Given the description of an element on the screen output the (x, y) to click on. 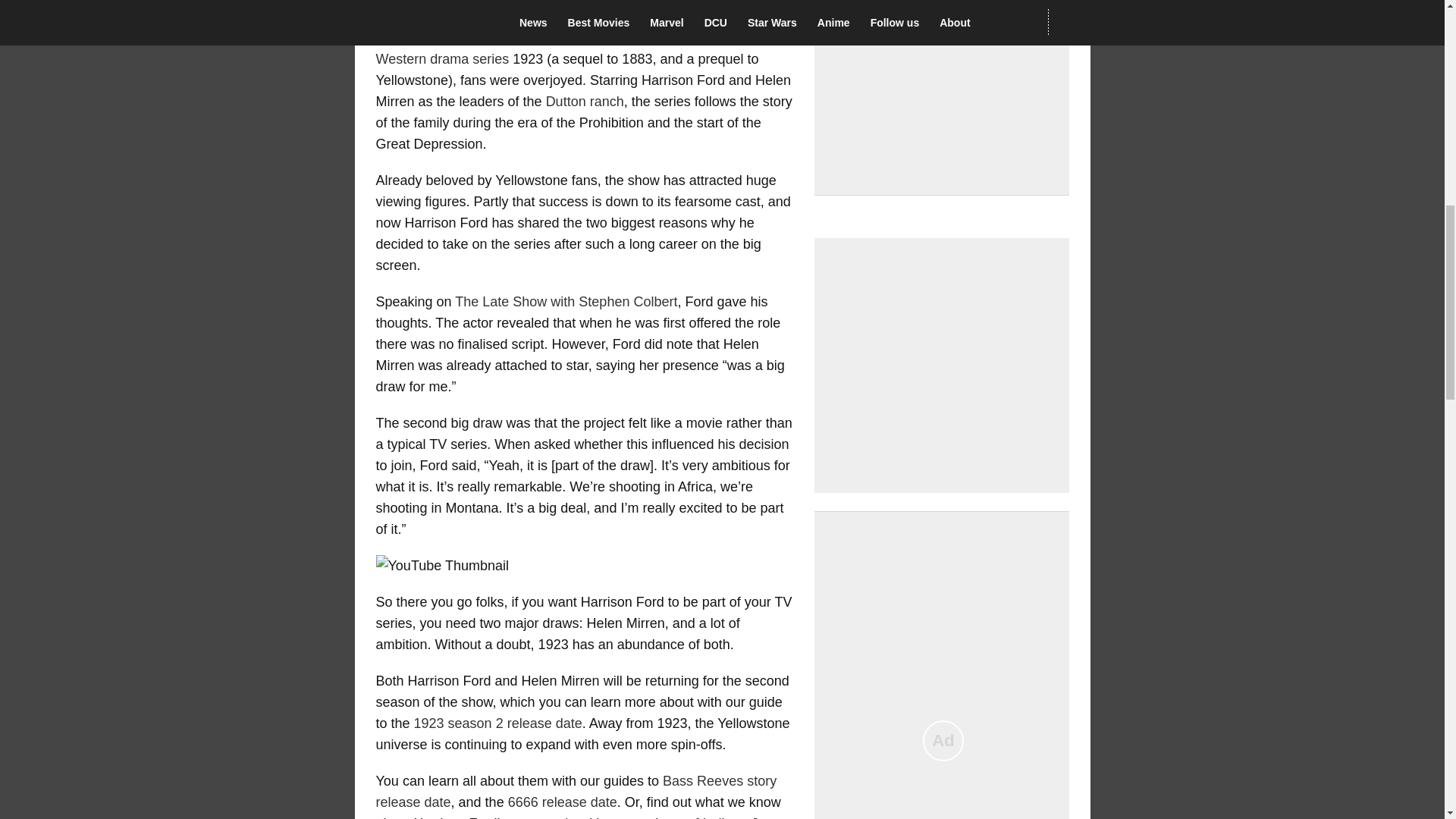
Yellowstone timeline (574, 37)
TV series (635, 4)
Western (400, 58)
